Given the description of an element on the screen output the (x, y) to click on. 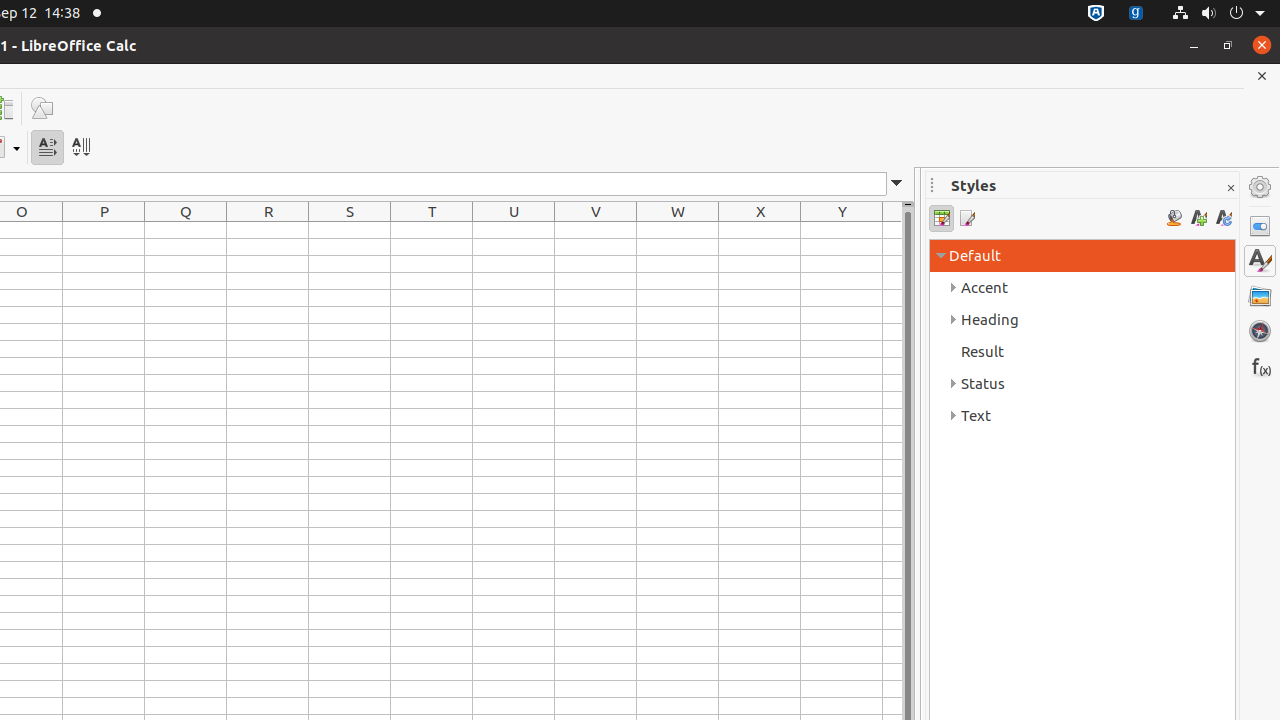
U1 Element type: table-cell (514, 230)
Draw Functions Element type: toggle-button (41, 108)
Navigator Element type: radio-button (1260, 331)
Fill Format Mode Element type: push-button (1173, 218)
T1 Element type: table-cell (432, 230)
